Given the description of an element on the screen output the (x, y) to click on. 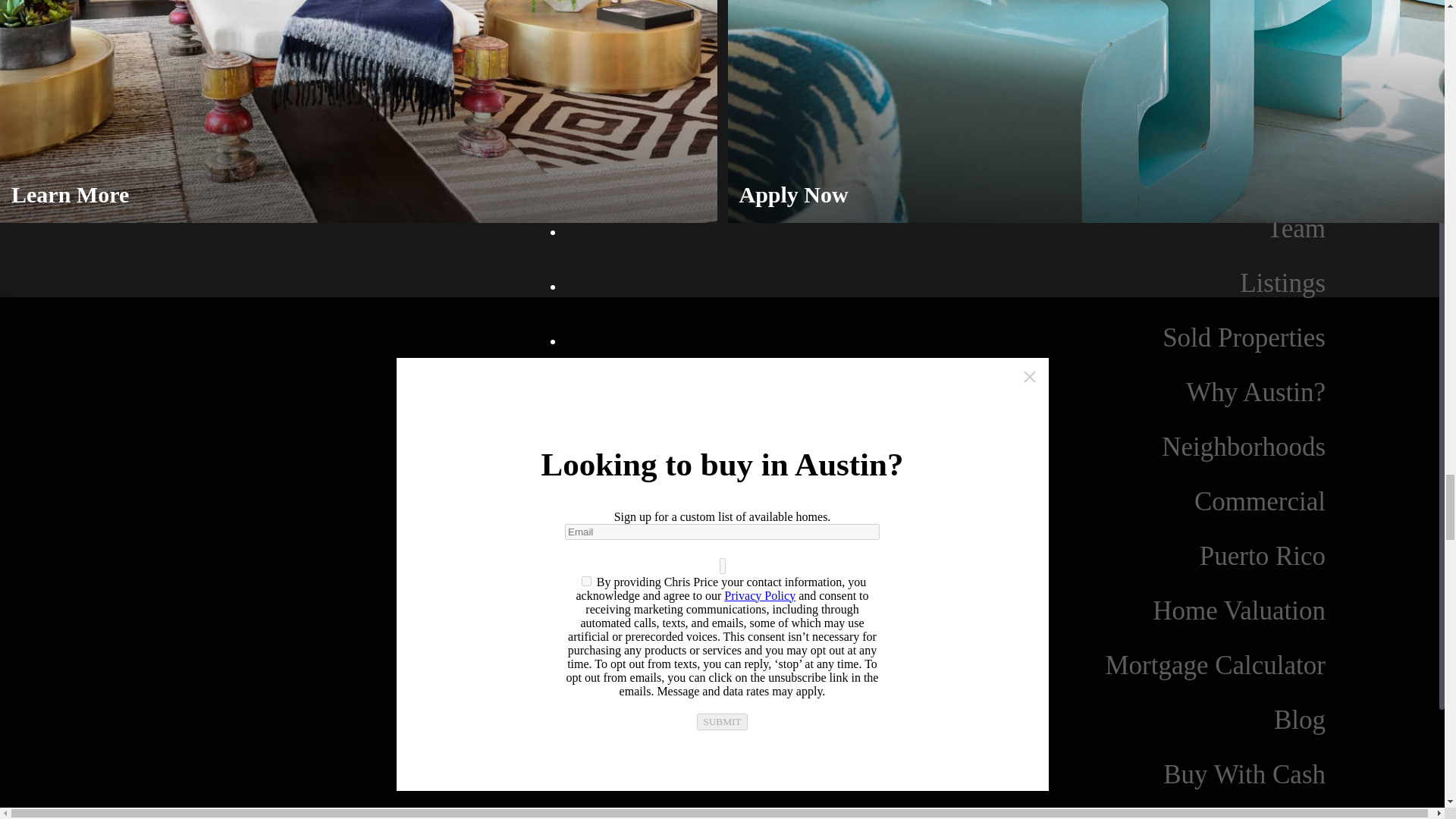
Privacy Policy (758, 594)
on (585, 581)
SUBMIT (721, 721)
